Given the description of an element on the screen output the (x, y) to click on. 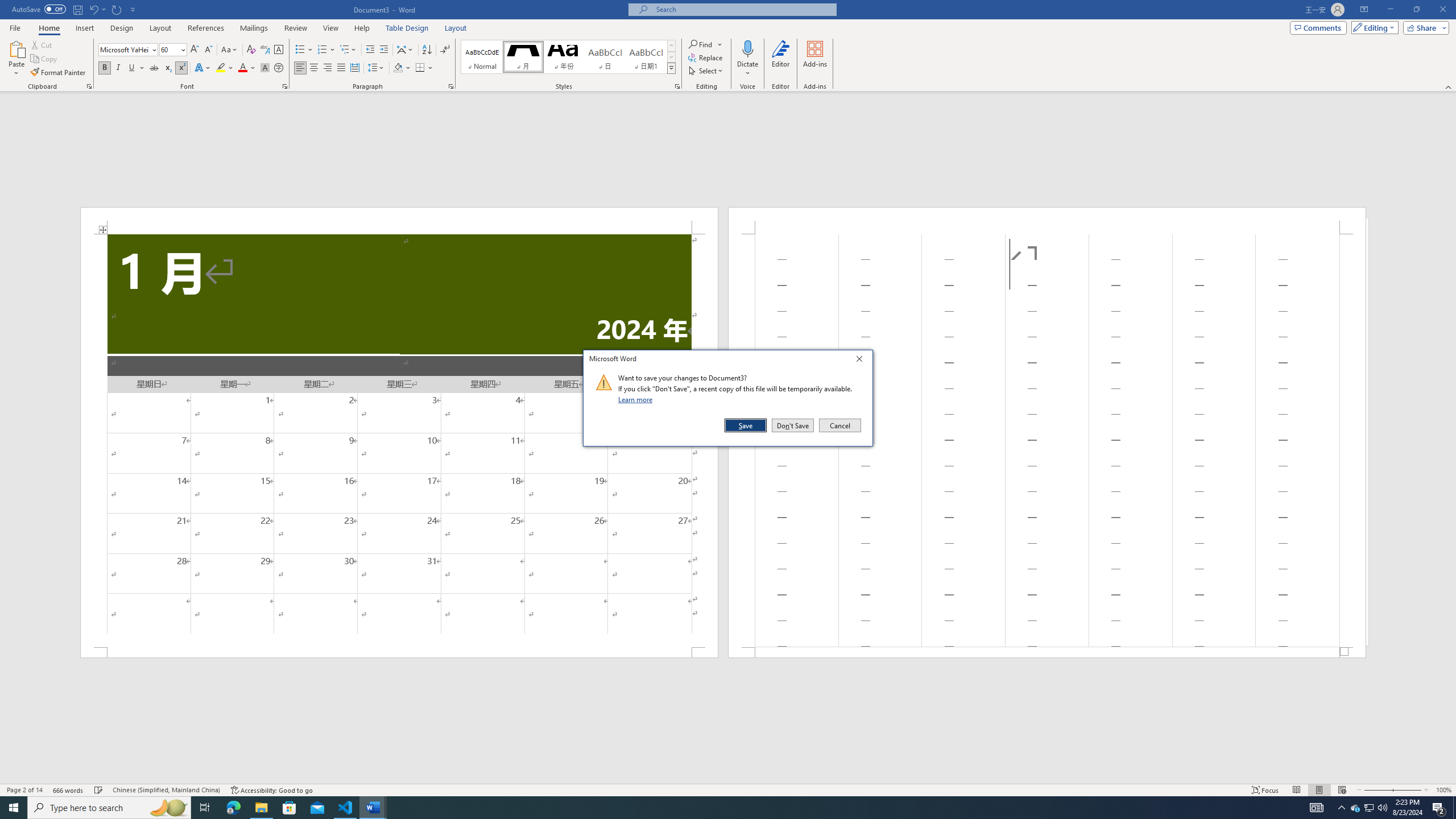
Visual Studio Code - 1 running window (345, 807)
Decrease Indent (370, 49)
Language Chinese (Simplified, Mainland China) (165, 790)
